Given the description of an element on the screen output the (x, y) to click on. 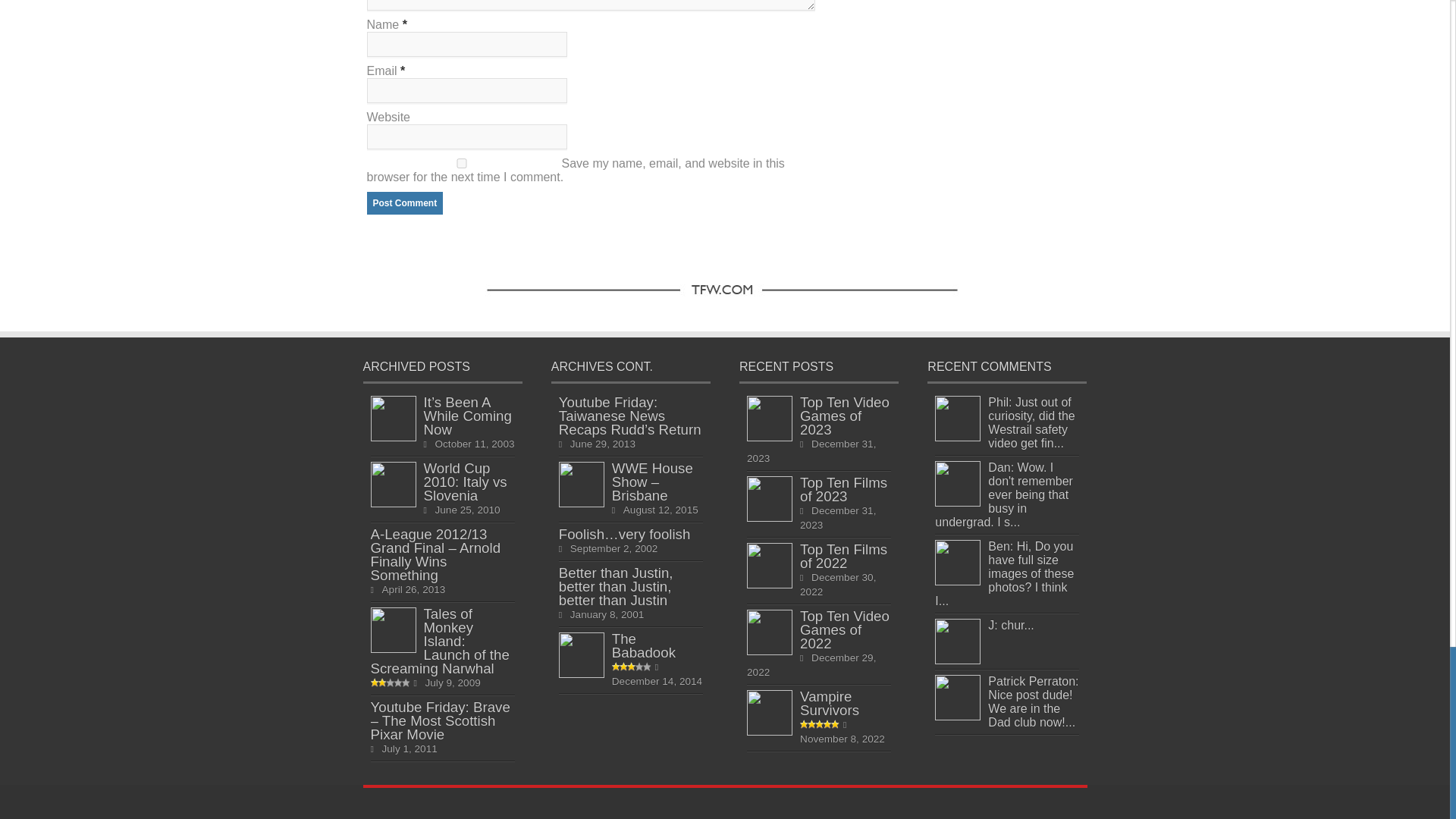
Post Comment (405, 202)
yes (461, 163)
